Given the description of an element on the screen output the (x, y) to click on. 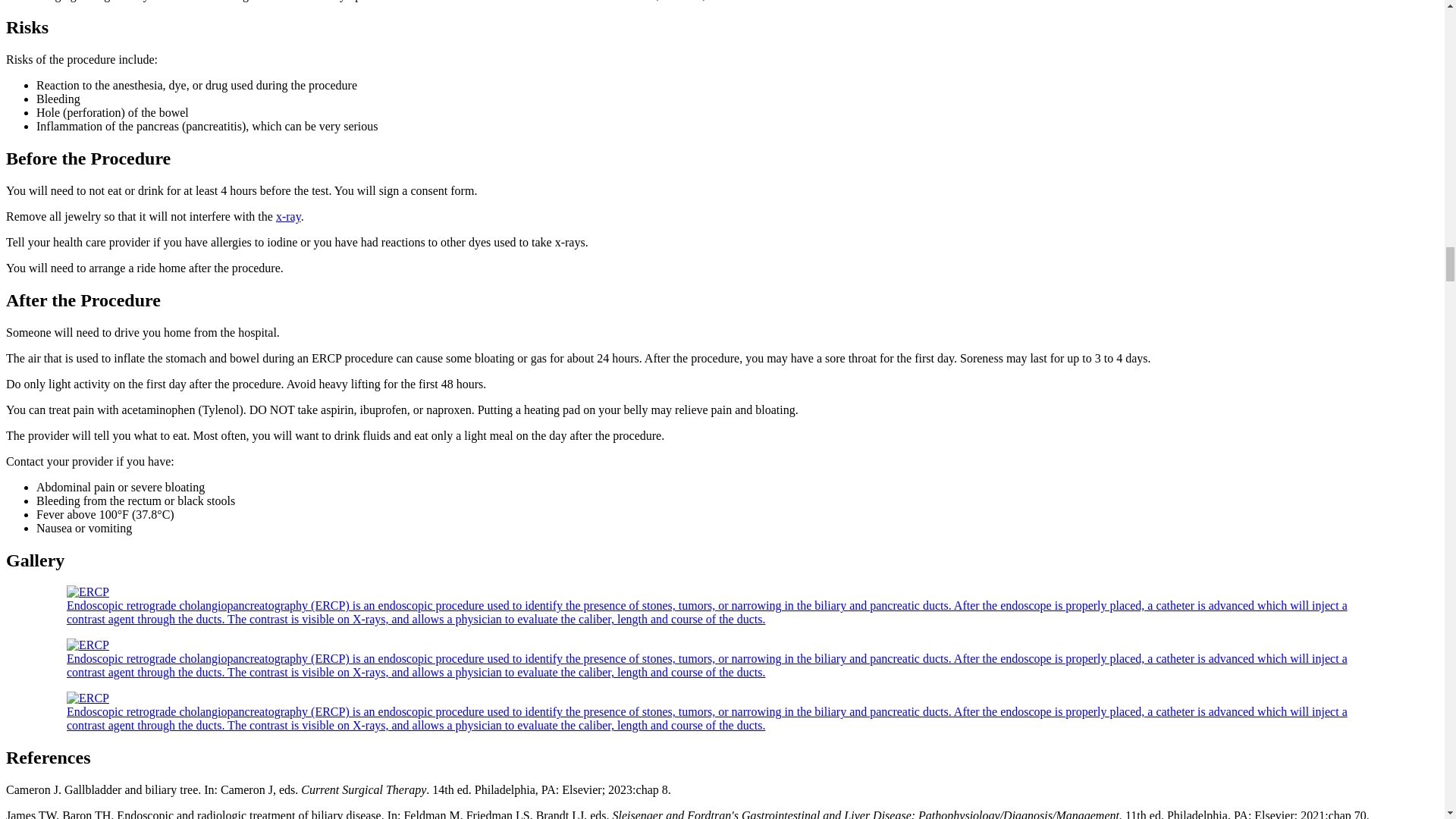
x-ray (288, 215)
